Given the description of an element on the screen output the (x, y) to click on. 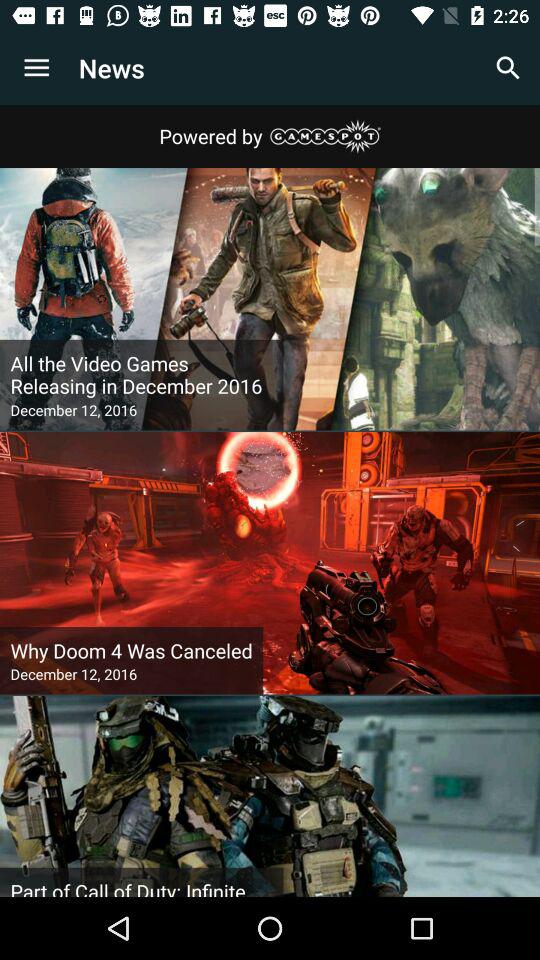
press item at the top right corner (508, 67)
